Given the description of an element on the screen output the (x, y) to click on. 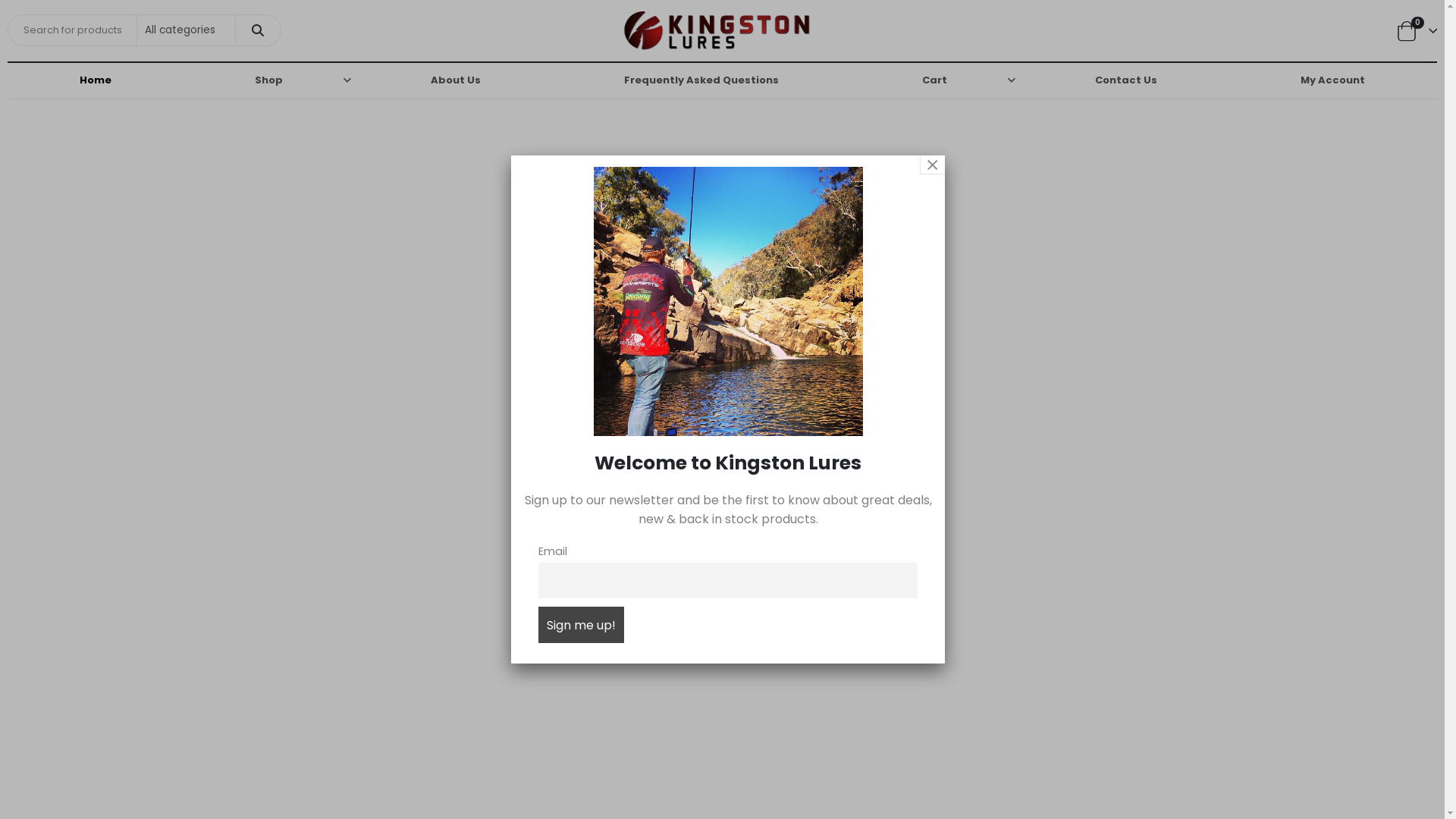
My Account Element type: text (1333, 80)
Sign me up! Element type: text (581, 624)
Contact Us Element type: text (1125, 80)
Cart Element type: text (936, 80)
Search Element type: hover (257, 30)
Home Element type: text (94, 80)
Kingston Lures -  Element type: hover (716, 30)
Frequently Asked Questions Element type: text (701, 80)
Shop Element type: text (269, 80)
About Us Element type: text (455, 80)
